Given the description of an element on the screen output the (x, y) to click on. 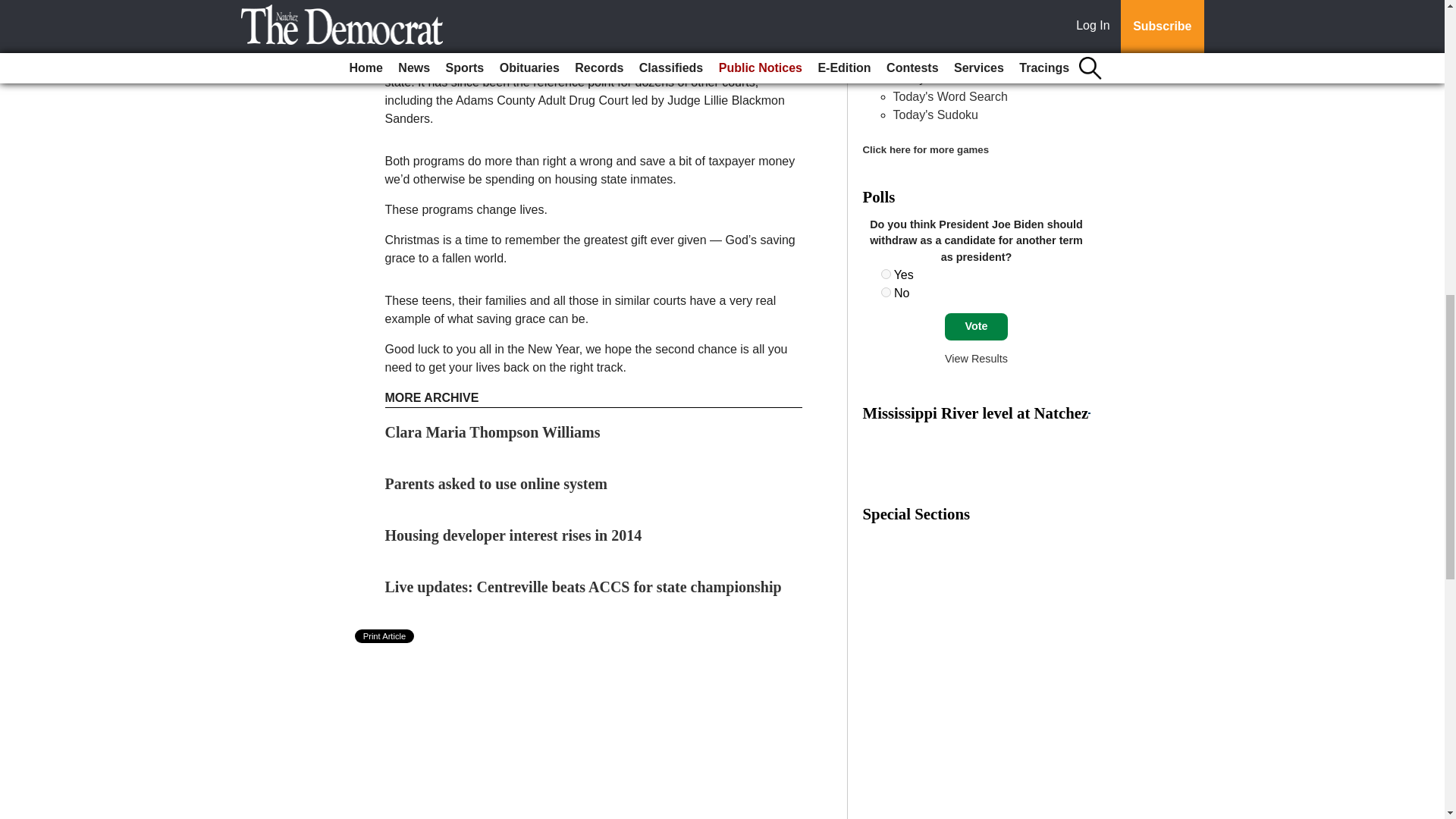
Parents asked to use online system (496, 483)
Live updates: Centreville beats ACCS for state championship (583, 586)
Housing developer interest rises in 2014 (513, 535)
22424 (885, 292)
Clara Maria Thompson Williams (492, 432)
22423 (885, 274)
Print Article (384, 635)
Parents asked to use online system (496, 483)
Live updates: Centreville beats ACCS for state championship (583, 586)
Clara Maria Thompson Williams (492, 432)
View Results Of This Poll (975, 358)
Housing developer interest rises in 2014 (513, 535)
   Vote    (975, 326)
